Given the description of an element on the screen output the (x, y) to click on. 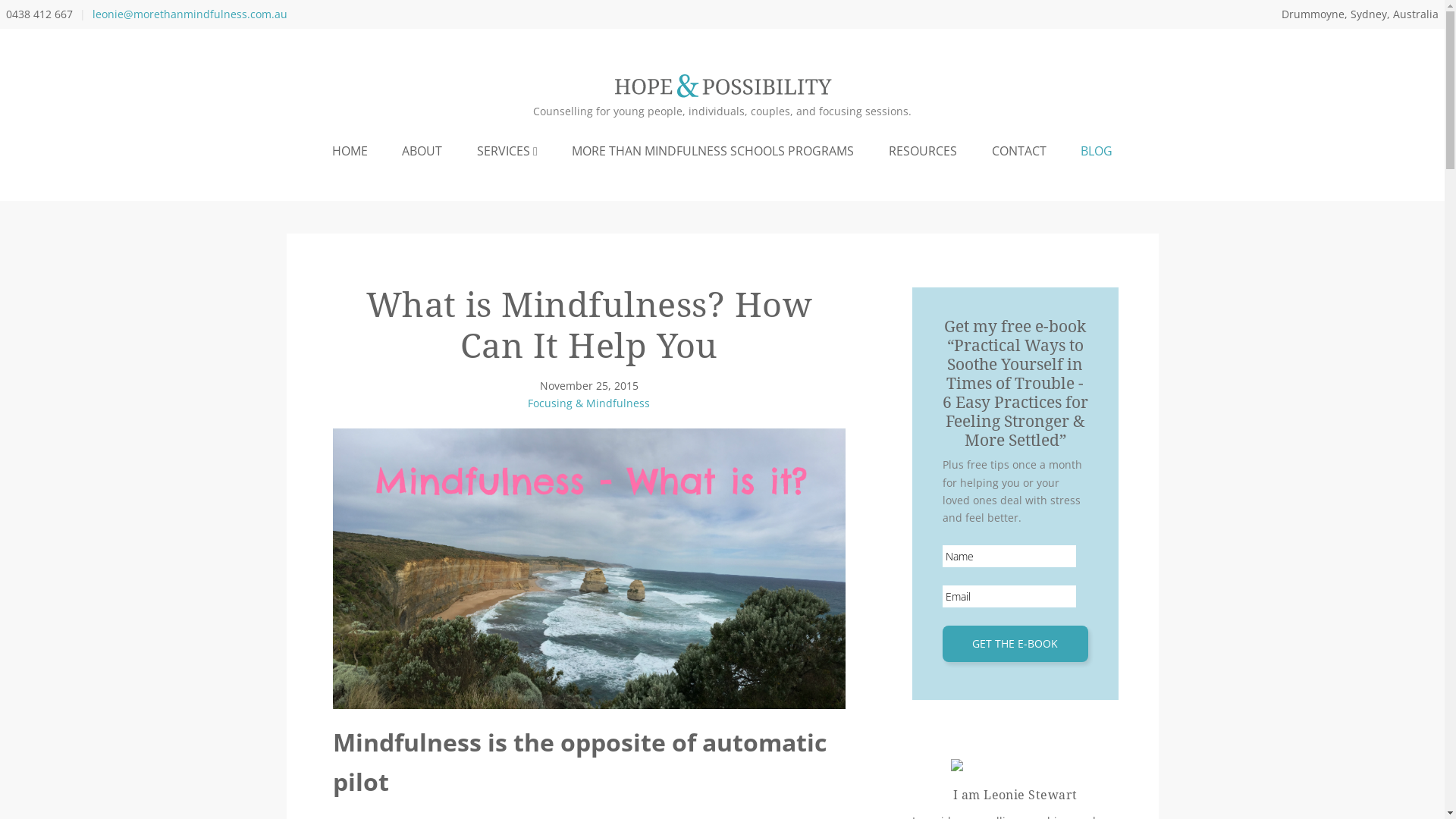
Hope and Possibility Element type: hover (721, 93)
MORE THAN MINDFULNESS SCHOOLS PROGRAMS Element type: text (713, 150)
Focusing & Mindfulness Element type: text (588, 402)
Get the e-book Element type: text (1015, 643)
Hope and Possibility Element type: hover (721, 86)
BLOG Element type: text (1096, 150)
Skip to primary navigation Element type: text (0, 0)
RESOURCES Element type: text (922, 150)
leonie@morethanmindfulness.com.au Element type: text (189, 13)
HOME Element type: text (349, 150)
ABOUT Element type: text (422, 150)
CONTACT Element type: text (1018, 150)
SERVICES Element type: text (506, 150)
